Given the description of an element on the screen output the (x, y) to click on. 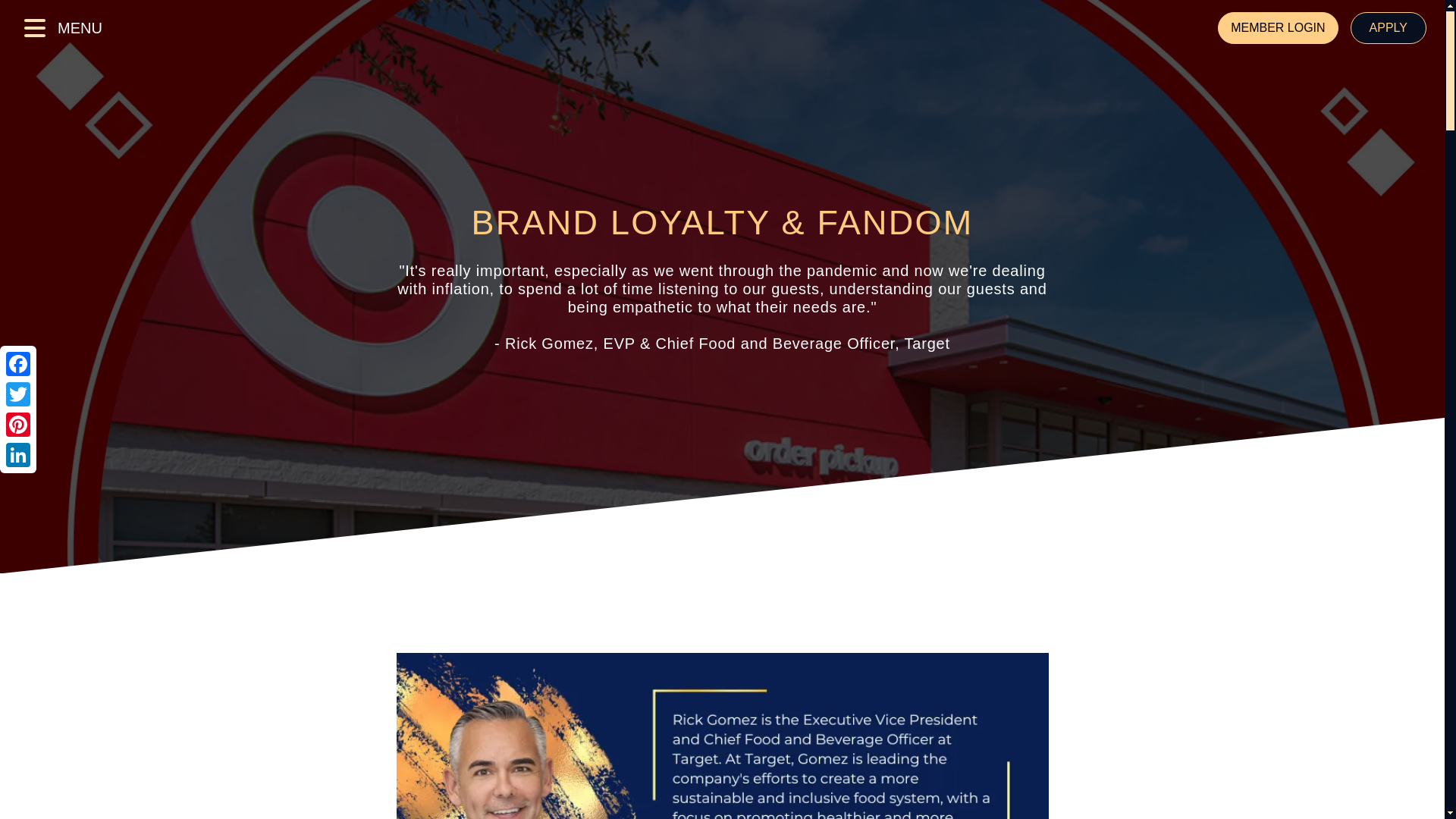
APPLY (1388, 28)
Twitter (17, 394)
Facebook (17, 363)
Pinterest (17, 424)
LinkedIn (17, 454)
MEMBER LOGIN (1277, 28)
